Given the description of an element on the screen output the (x, y) to click on. 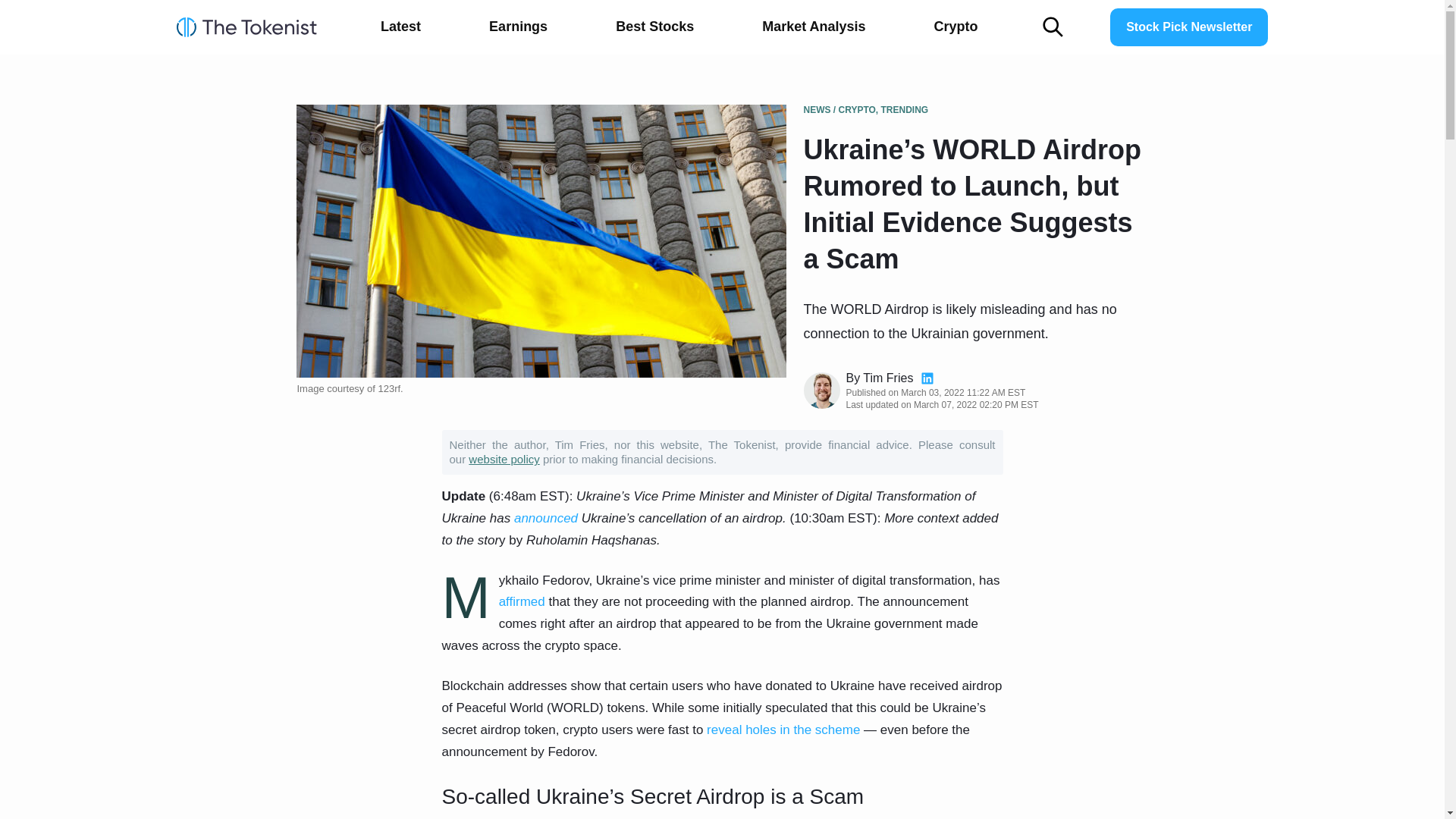
NEWS (817, 109)
CRYPTO (857, 109)
Market Analysis (813, 27)
announced (545, 518)
affirmed (521, 601)
Stock Pick Newsletter (1188, 26)
reveal holes in the scheme (783, 729)
Earnings (517, 27)
website policy (503, 459)
TRENDING (904, 109)
Tim Fries (887, 377)
Best Stocks (654, 27)
Crypto (955, 27)
